Given the description of an element on the screen output the (x, y) to click on. 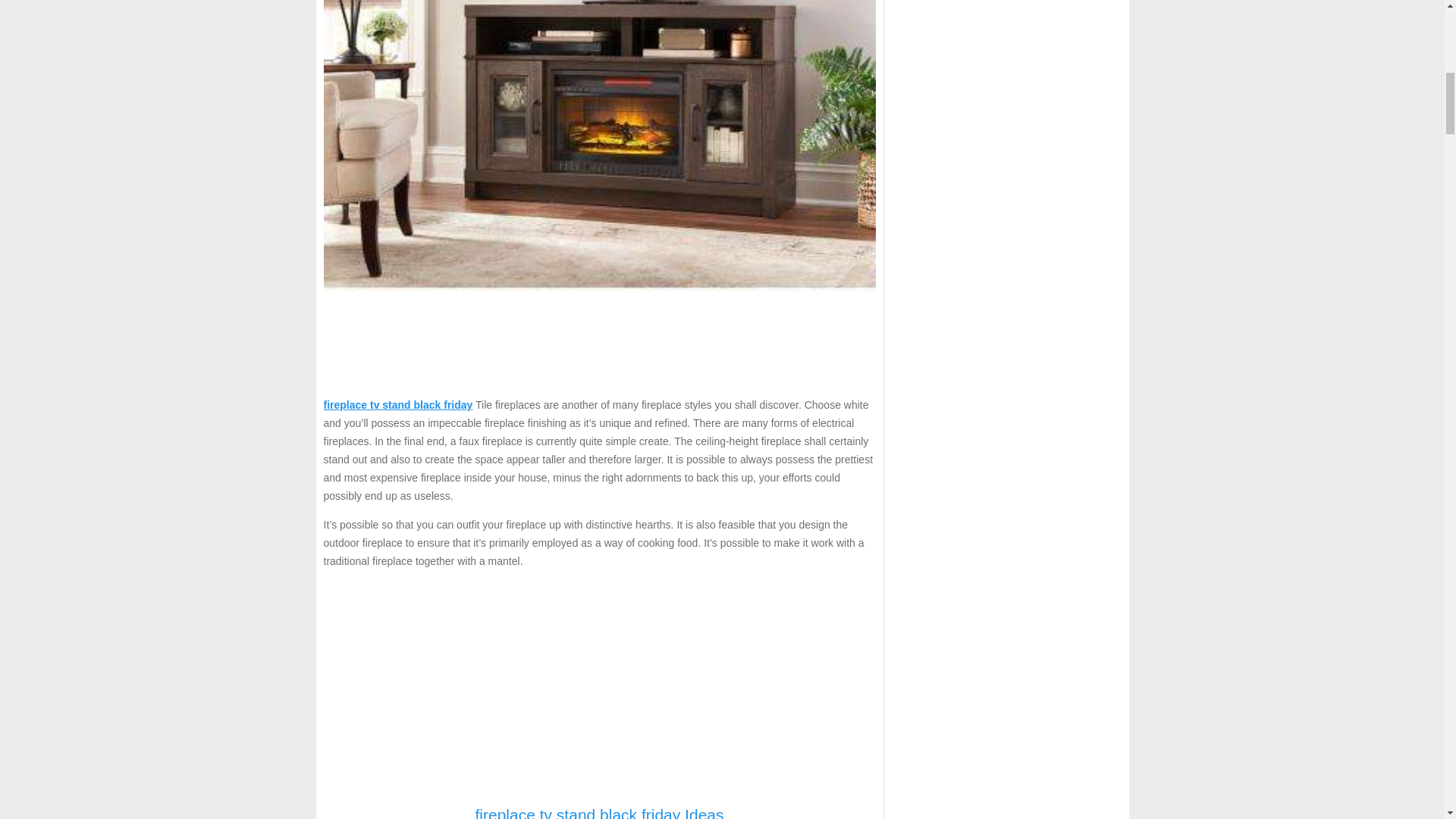
fireplace tv stand black friday (397, 404)
fireplace tv stand black friday (397, 404)
Advertisement (599, 686)
